Given the description of an element on the screen output the (x, y) to click on. 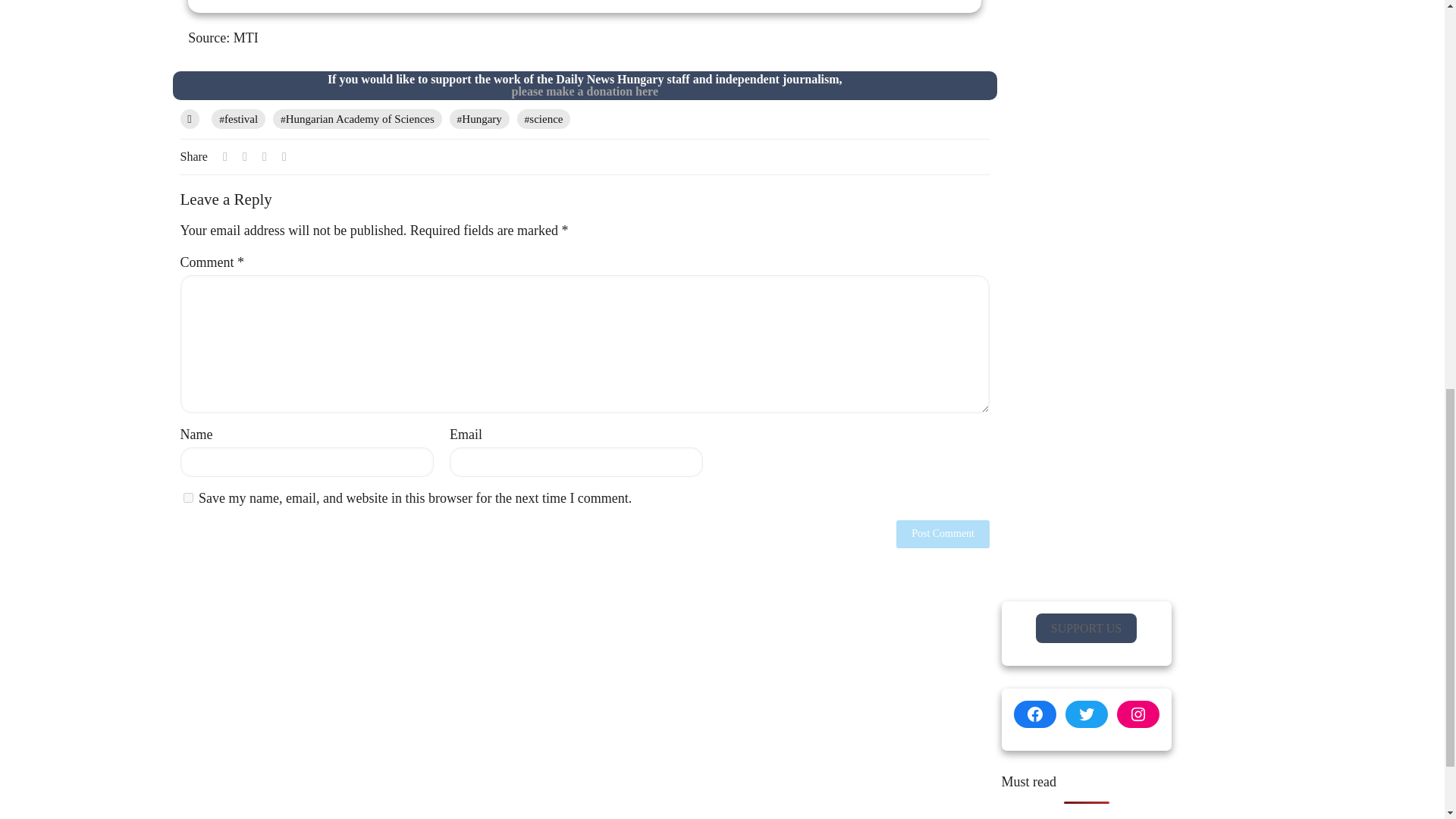
science (543, 118)
Post Comment (943, 533)
Hungary (584, 6)
yes (479, 118)
please make a donation here (188, 497)
festival (584, 91)
Hungarian Academy of Sciences (237, 118)
